Given the description of an element on the screen output the (x, y) to click on. 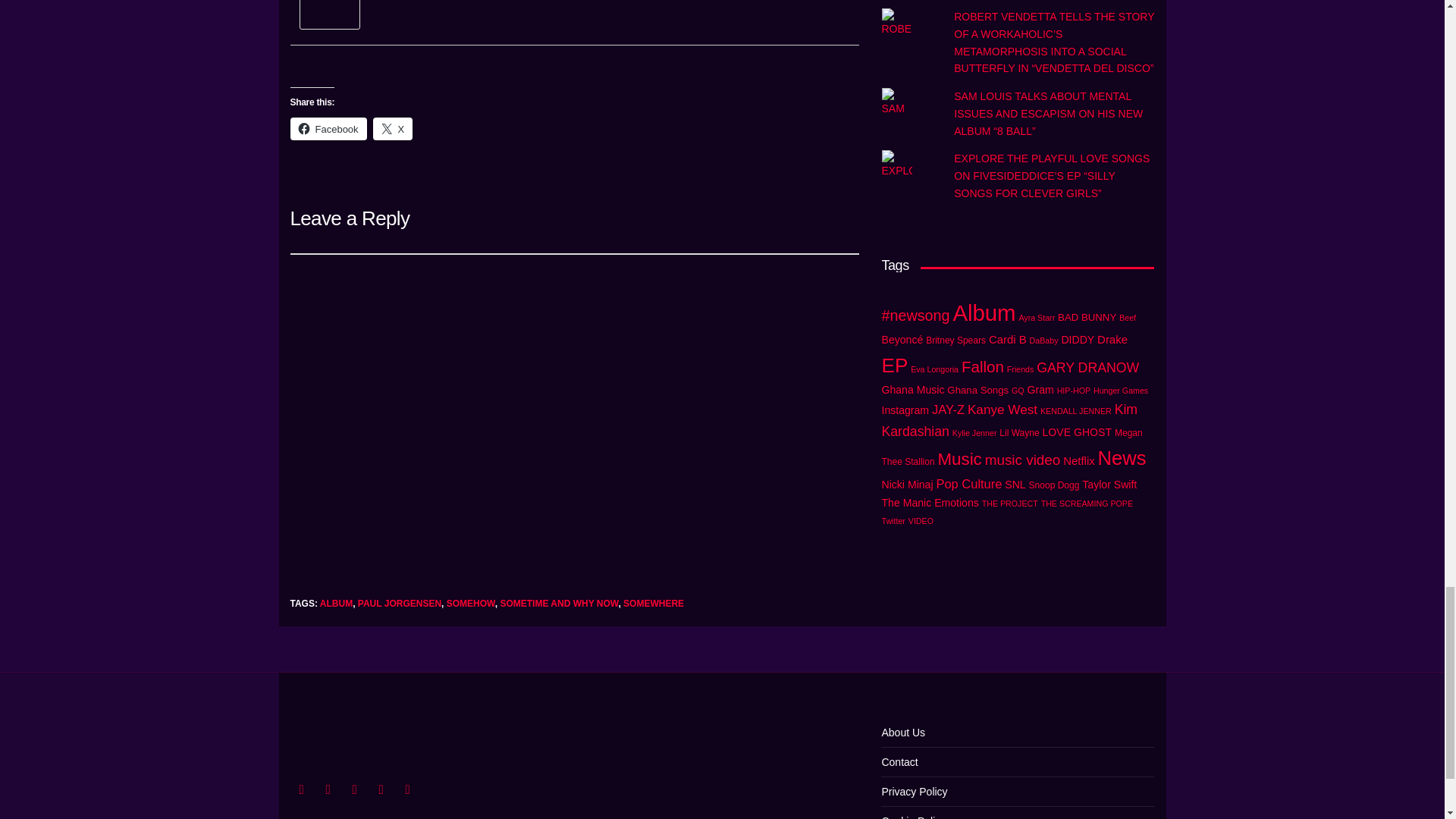
naa (328, 2)
Click to share on Facebook (327, 128)
Click to share on X (392, 128)
